Given the description of an element on the screen output the (x, y) to click on. 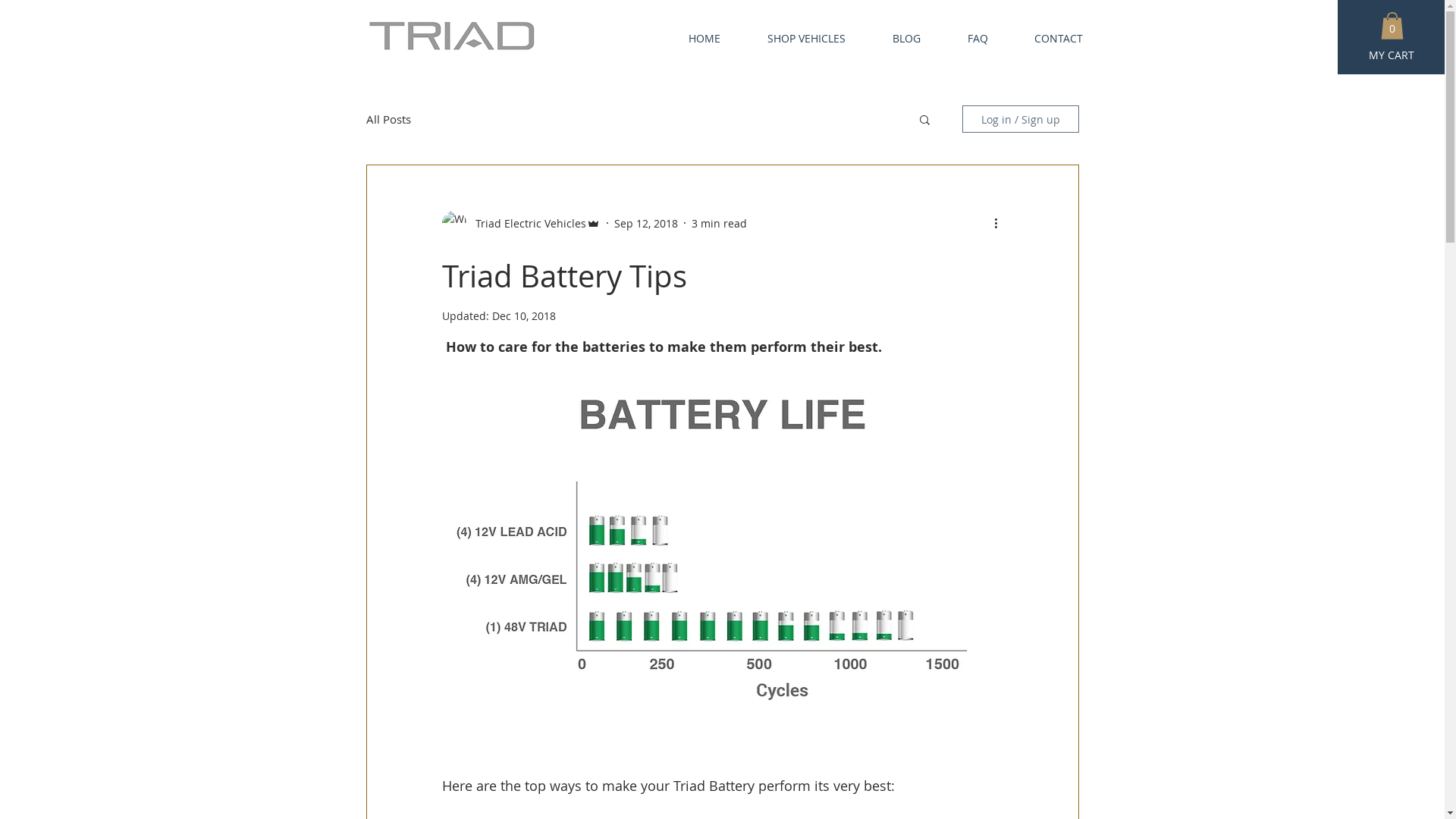
SHOP VEHICLES Element type: text (793, 37)
BLOG Element type: text (893, 37)
Log in / Sign up Element type: text (1019, 118)
HOME Element type: text (691, 37)
All Posts Element type: text (387, 118)
0 Element type: text (1391, 25)
CONTACT Element type: text (1046, 37)
FAQ Element type: text (964, 37)
